Given the description of an element on the screen output the (x, y) to click on. 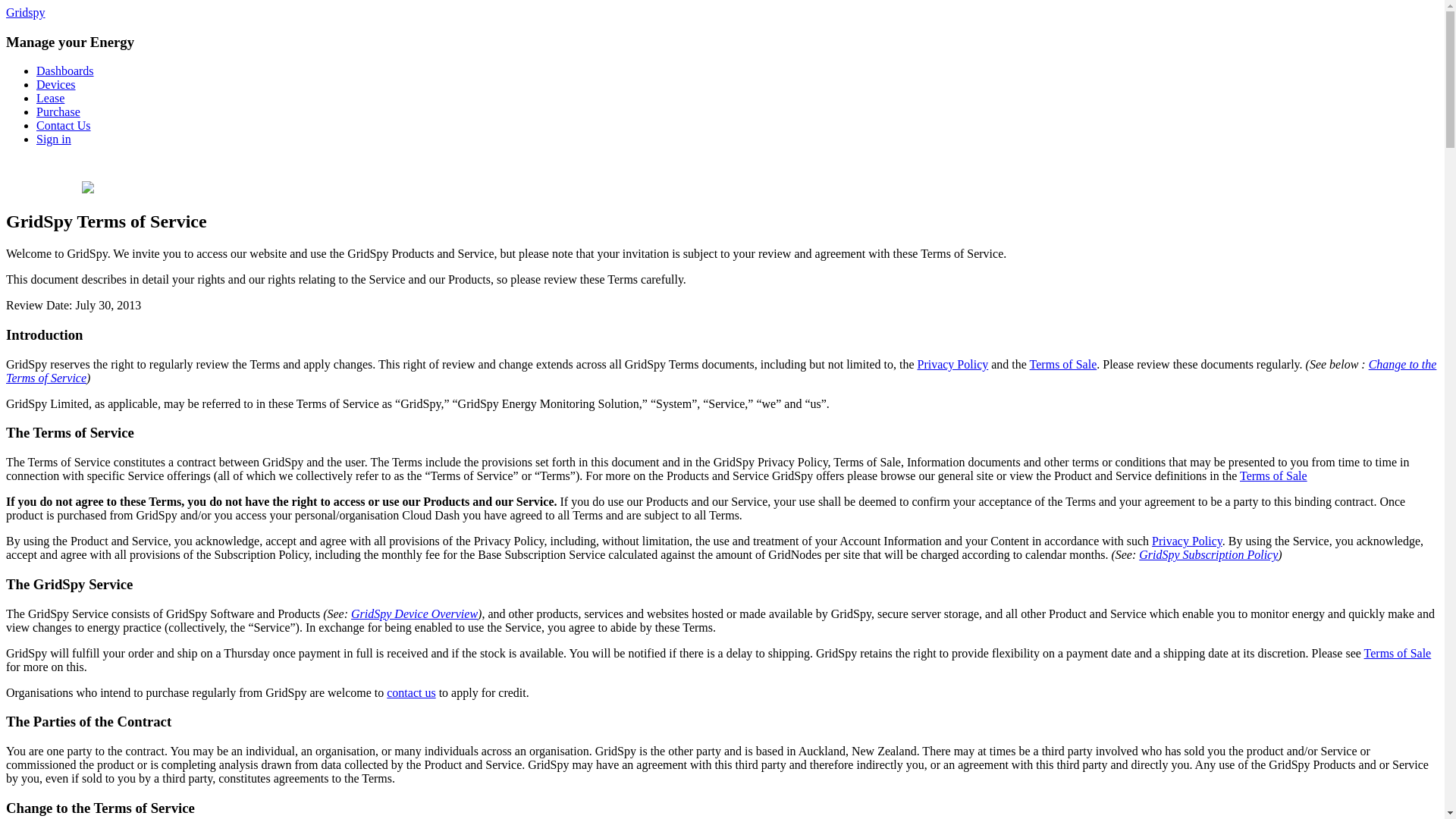
Terms of Sale (1397, 653)
Lease (50, 97)
Purchase (58, 111)
Terms of Sale (1273, 475)
Sign in (53, 138)
GridSpy Device Overview (413, 613)
Dashboards (65, 70)
Contact Us (63, 124)
Gridspy (25, 11)
contact us (411, 692)
